Given the description of an element on the screen output the (x, y) to click on. 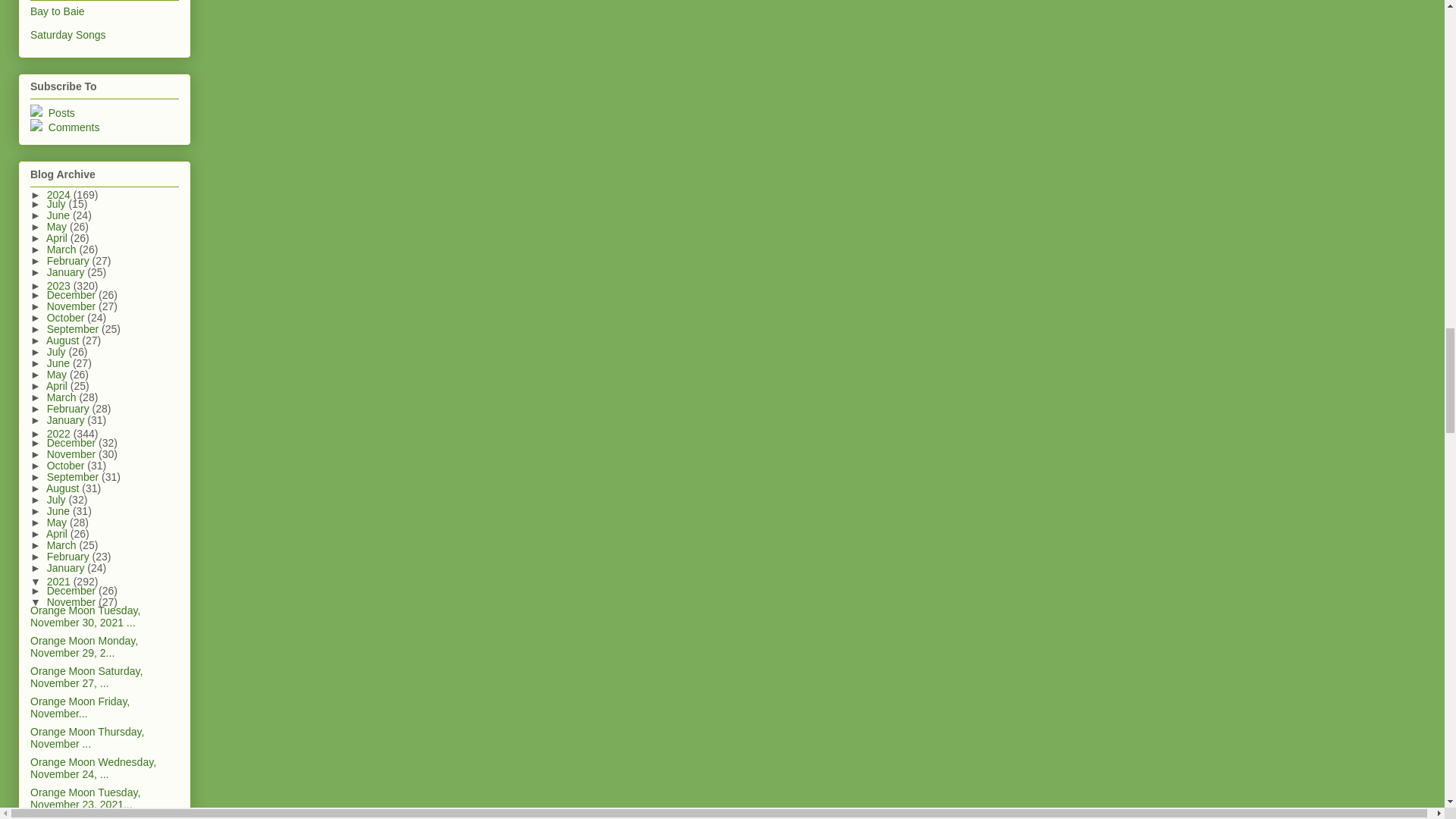
Saturday Songs (68, 34)
July (57, 203)
June (59, 215)
2024 (60, 194)
May (57, 226)
Bay to Baie (57, 10)
